Given the description of an element on the screen output the (x, y) to click on. 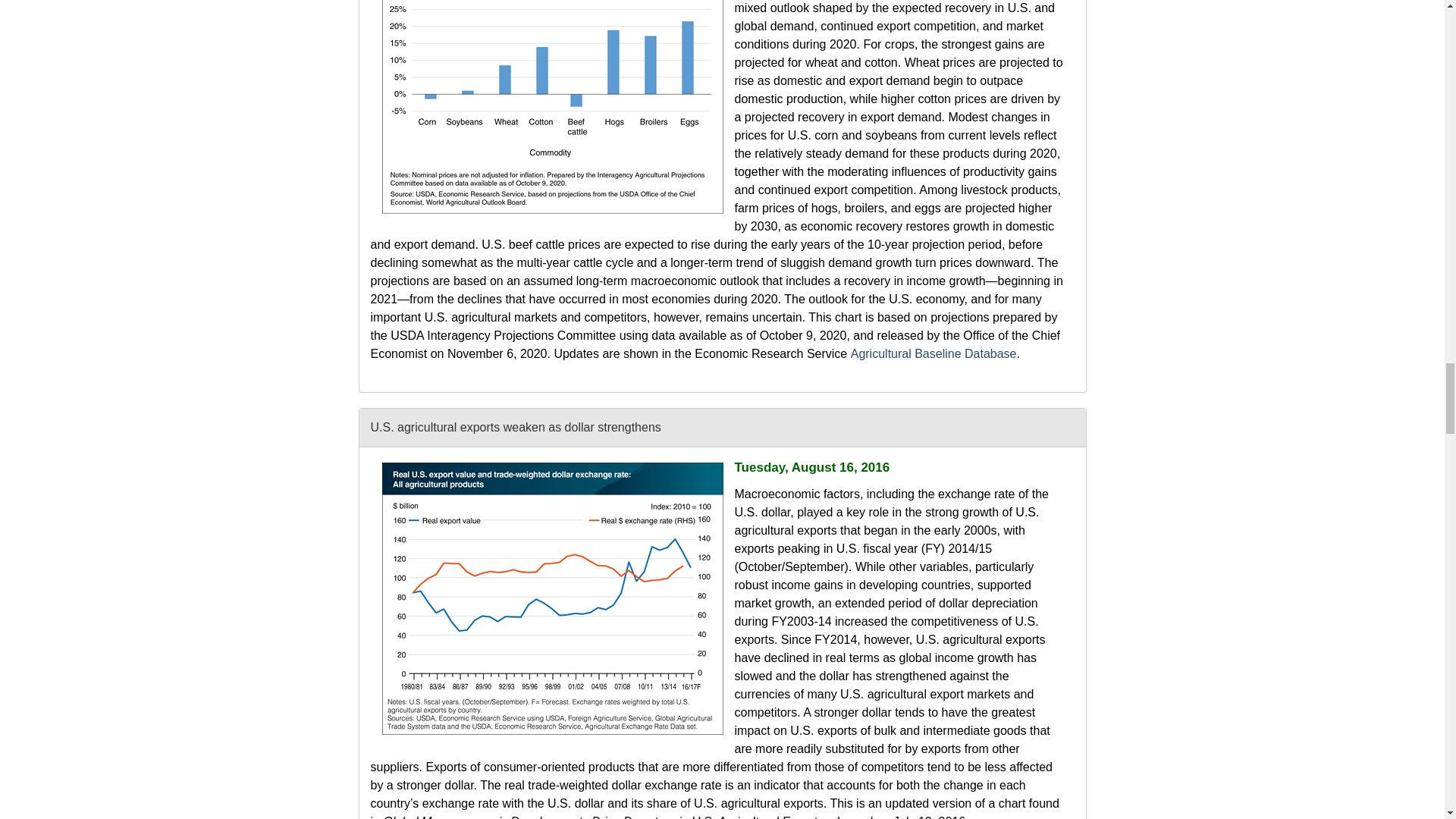
U.S. agricultural exports weaken as dollar strengthens (552, 598)
